Given the description of an element on the screen output the (x, y) to click on. 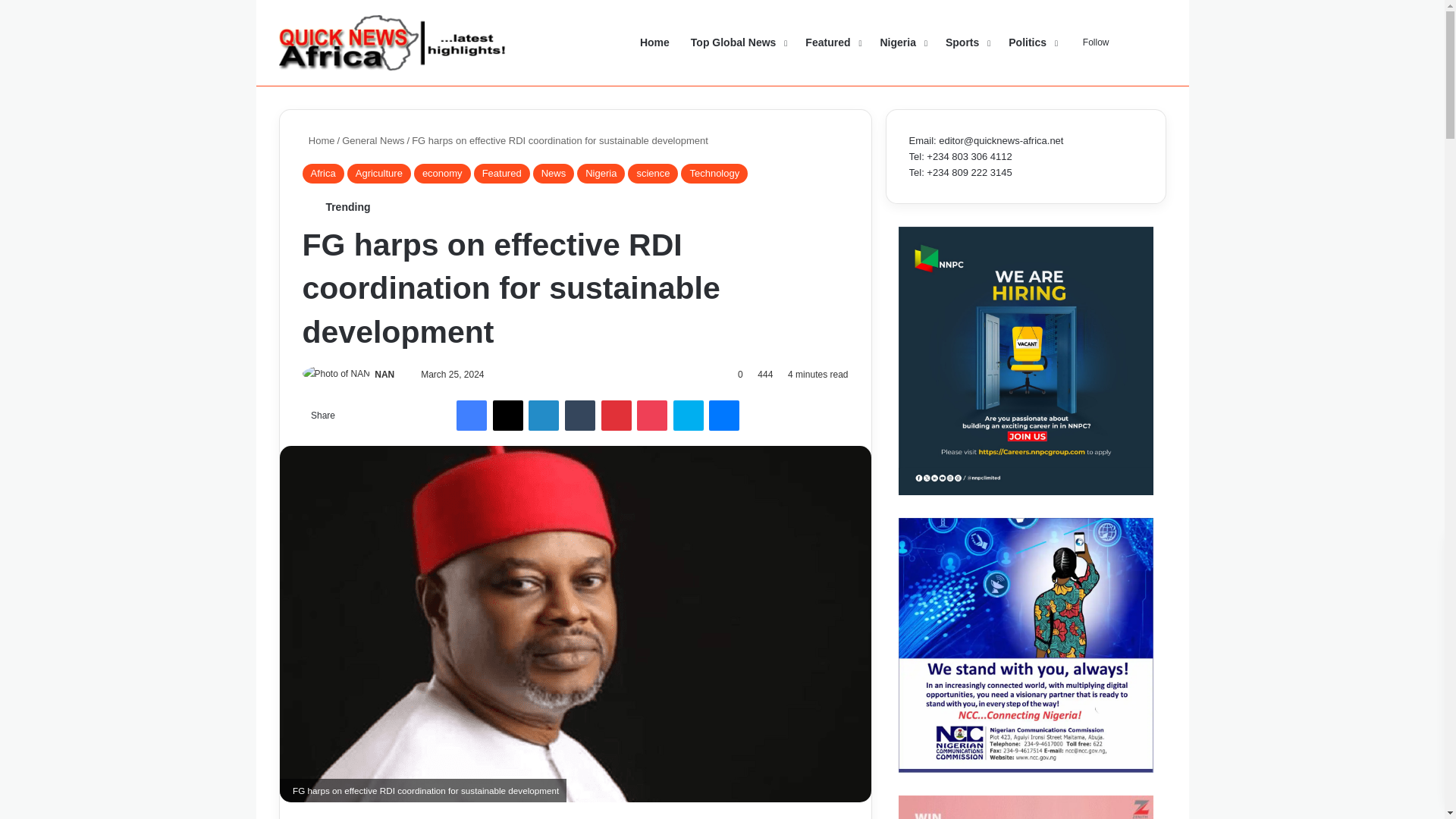
Top Global News (736, 42)
LinkedIn (543, 415)
QUICK NEWS AFRICA (392, 42)
Home (317, 140)
NAN (384, 374)
Facebook (471, 415)
X (507, 415)
